Given the description of an element on the screen output the (x, y) to click on. 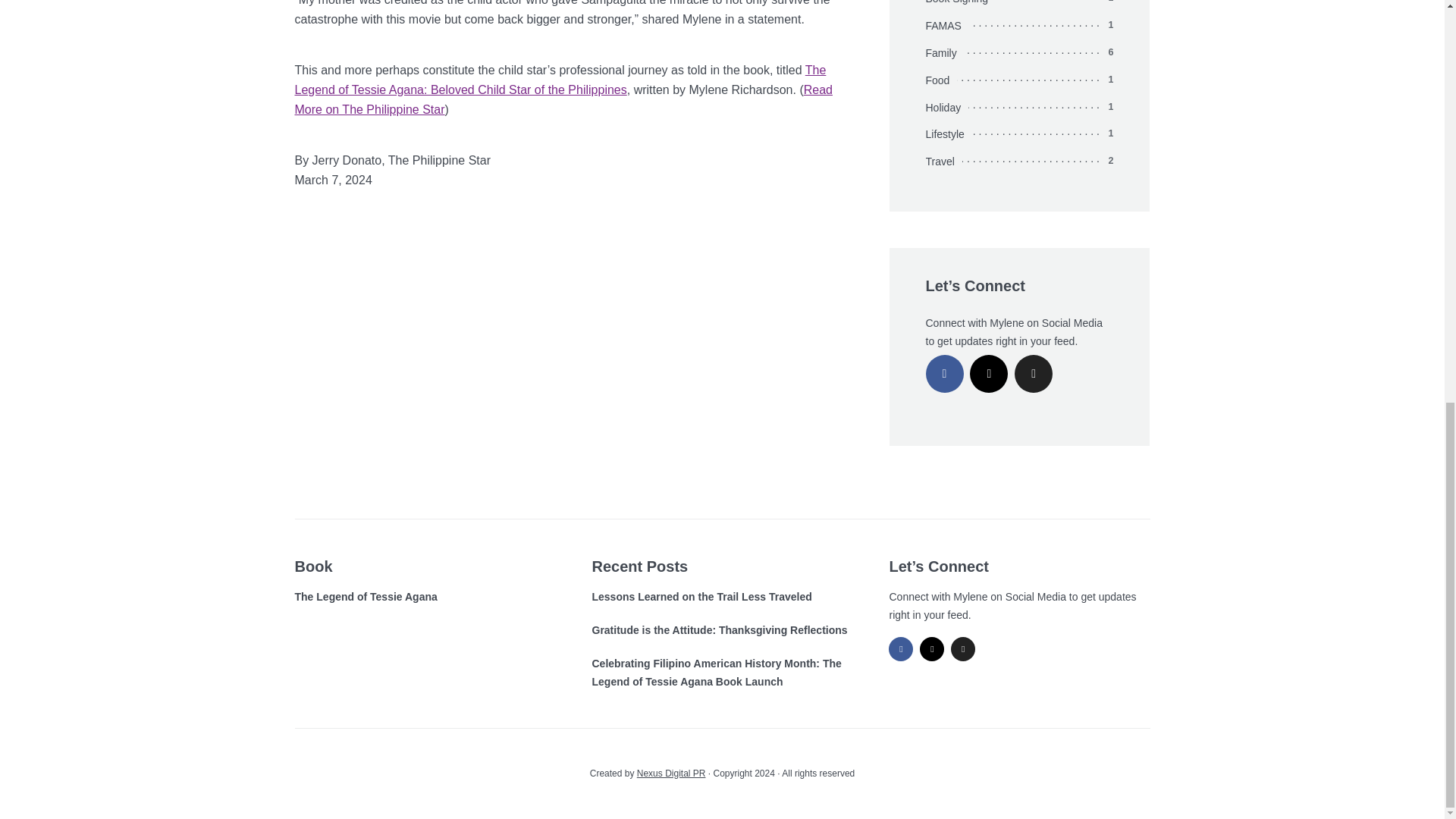
Facebook (900, 648)
Holiday (946, 108)
Instagram (988, 373)
Food (940, 81)
Instagram (931, 648)
FAMAS (946, 26)
Read More on The Philippine Star (562, 99)
Travel (942, 162)
Book Signing (959, 4)
Facebook (943, 373)
Lifestyle (947, 135)
Family (943, 54)
